Given the description of an element on the screen output the (x, y) to click on. 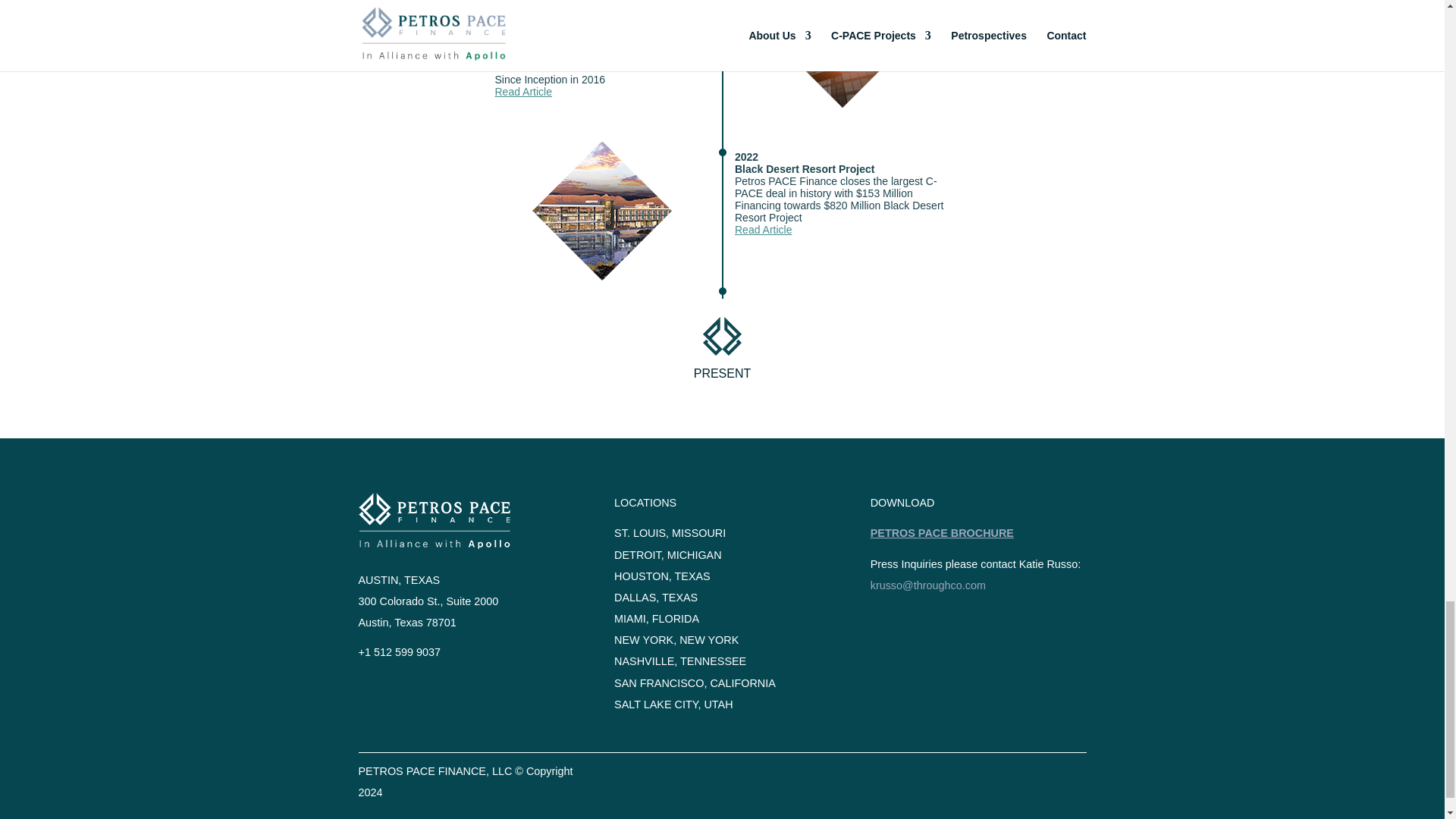
PetrosPaceWhite-logo (433, 520)
Petros-icon (722, 335)
Read Article (523, 91)
